Given the description of an element on the screen output the (x, y) to click on. 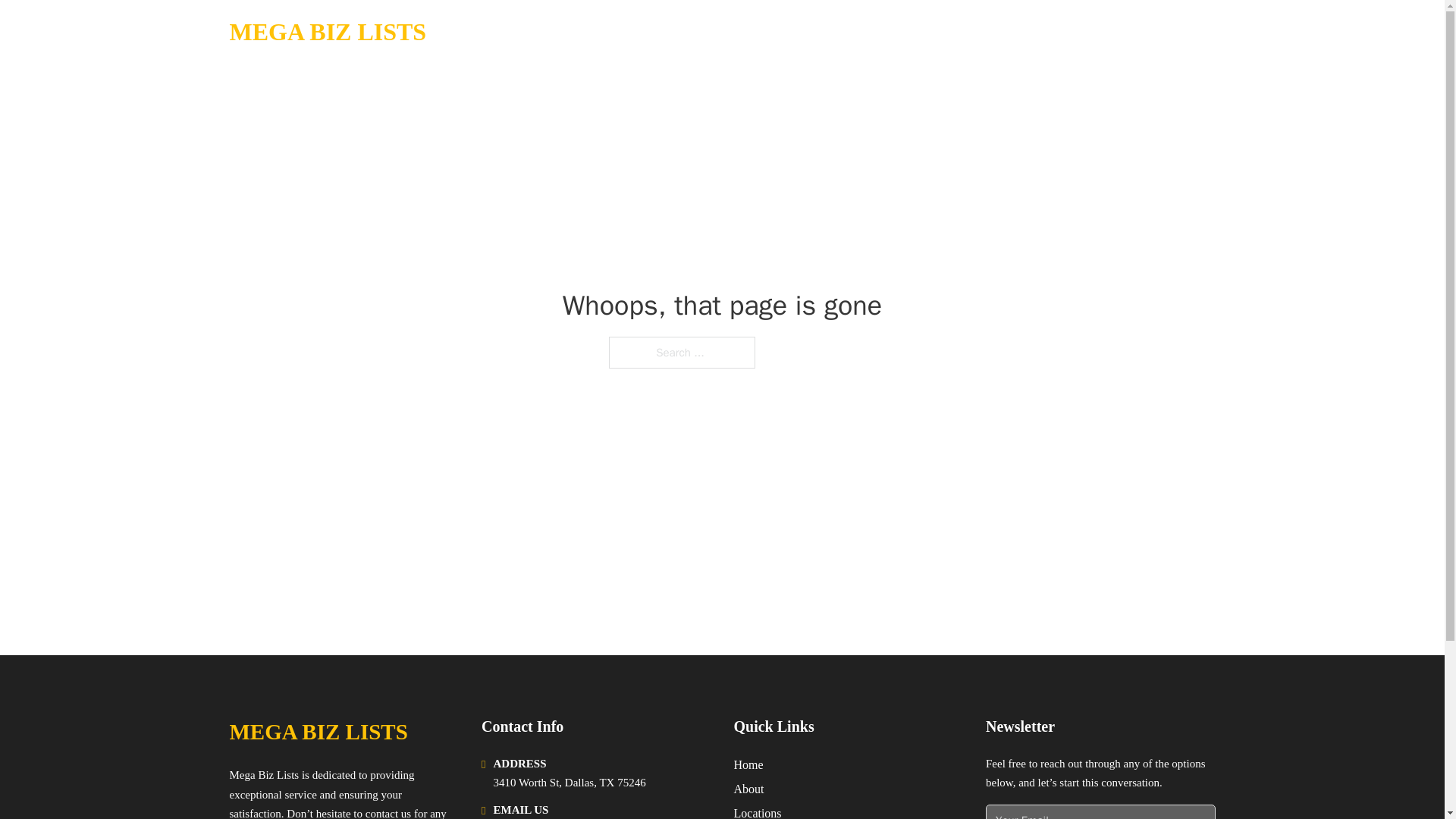
MEGA BIZ LISTS (317, 732)
Home (747, 764)
MEGA BIZ LISTS (327, 31)
HOME (1025, 31)
LOCATIONS (1098, 31)
Locations (757, 811)
About (748, 788)
